Given the description of an element on the screen output the (x, y) to click on. 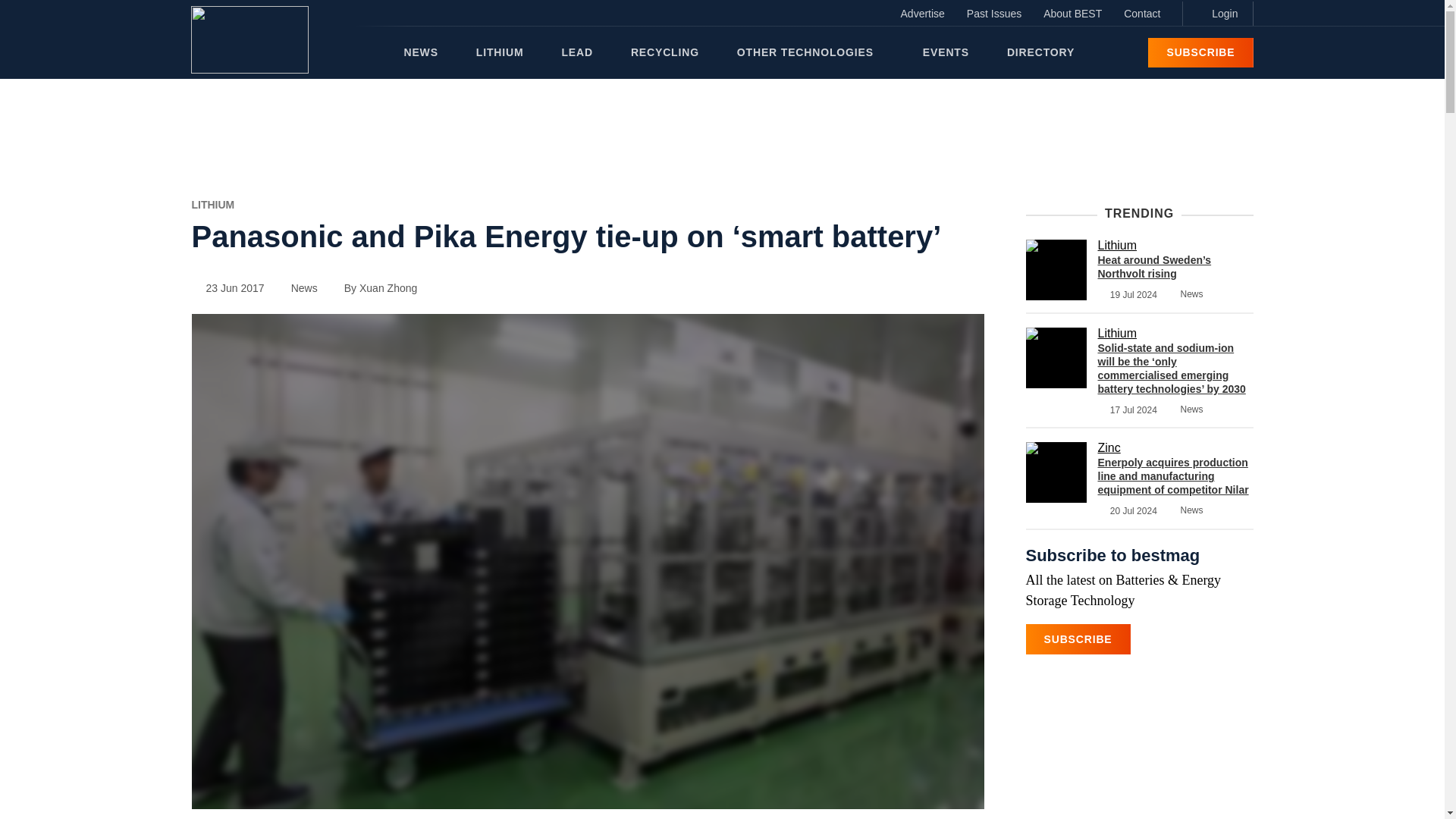
By Xuan Zhong (373, 287)
NEWS (420, 52)
Login (1217, 13)
Advertise (922, 13)
SUBSCRIBE (1200, 52)
RECYCLING (664, 52)
News (296, 287)
LITHIUM (499, 52)
Contact (1141, 13)
OTHER TECHNOLOGIES (810, 52)
About BEST (1072, 13)
DIRECTORY (1039, 52)
EVENTS (945, 52)
LITHIUM (212, 204)
Past Issues (994, 13)
